Given the description of an element on the screen output the (x, y) to click on. 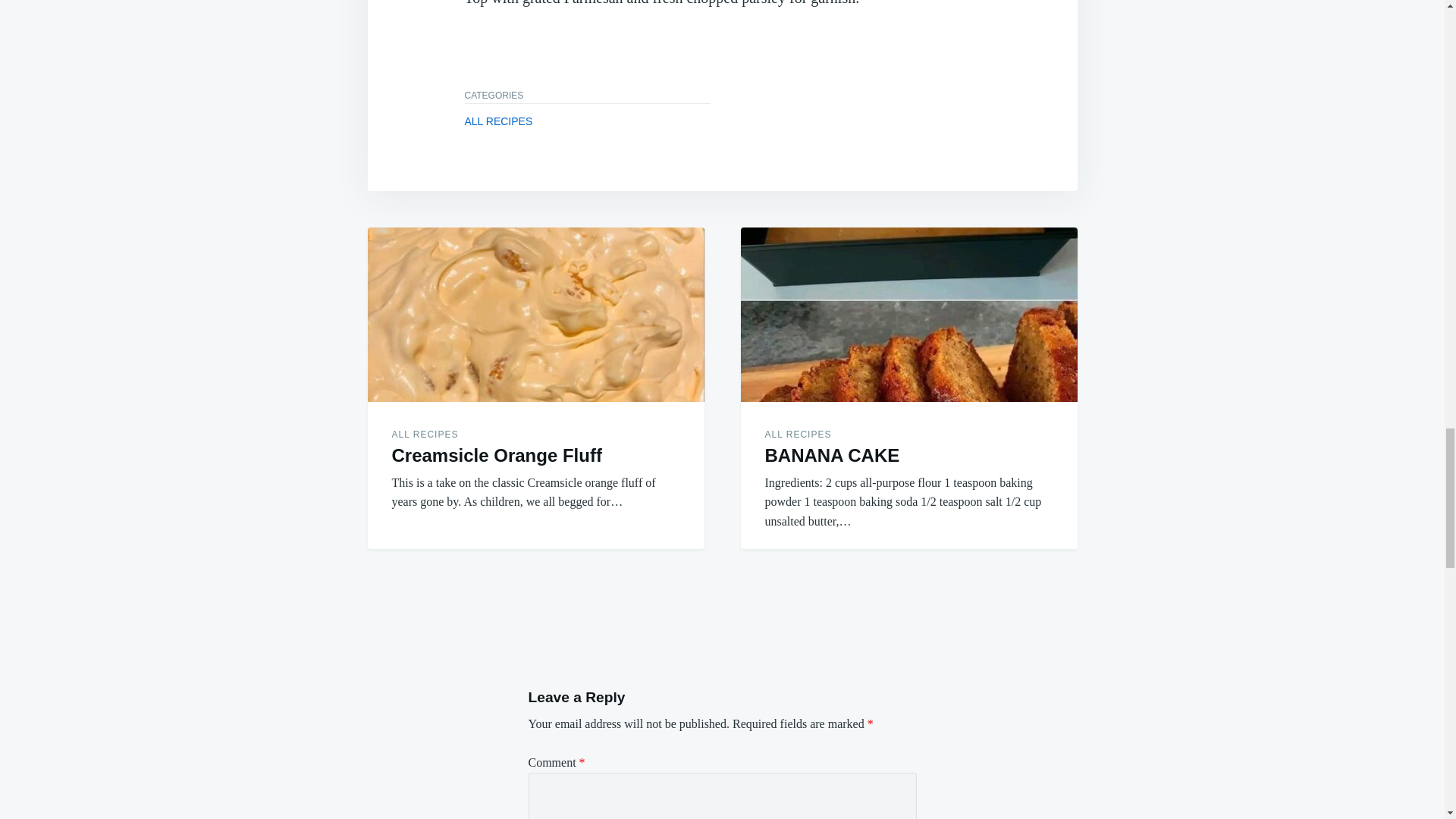
ALL RECIPES (797, 434)
BANANA CAKE (831, 455)
ALL RECIPES (498, 121)
Creamsicle Orange Fluff (496, 455)
BANANA CAKE (908, 314)
Creamsicle Orange Fluff (534, 314)
ALL RECIPES (424, 434)
